Given the description of an element on the screen output the (x, y) to click on. 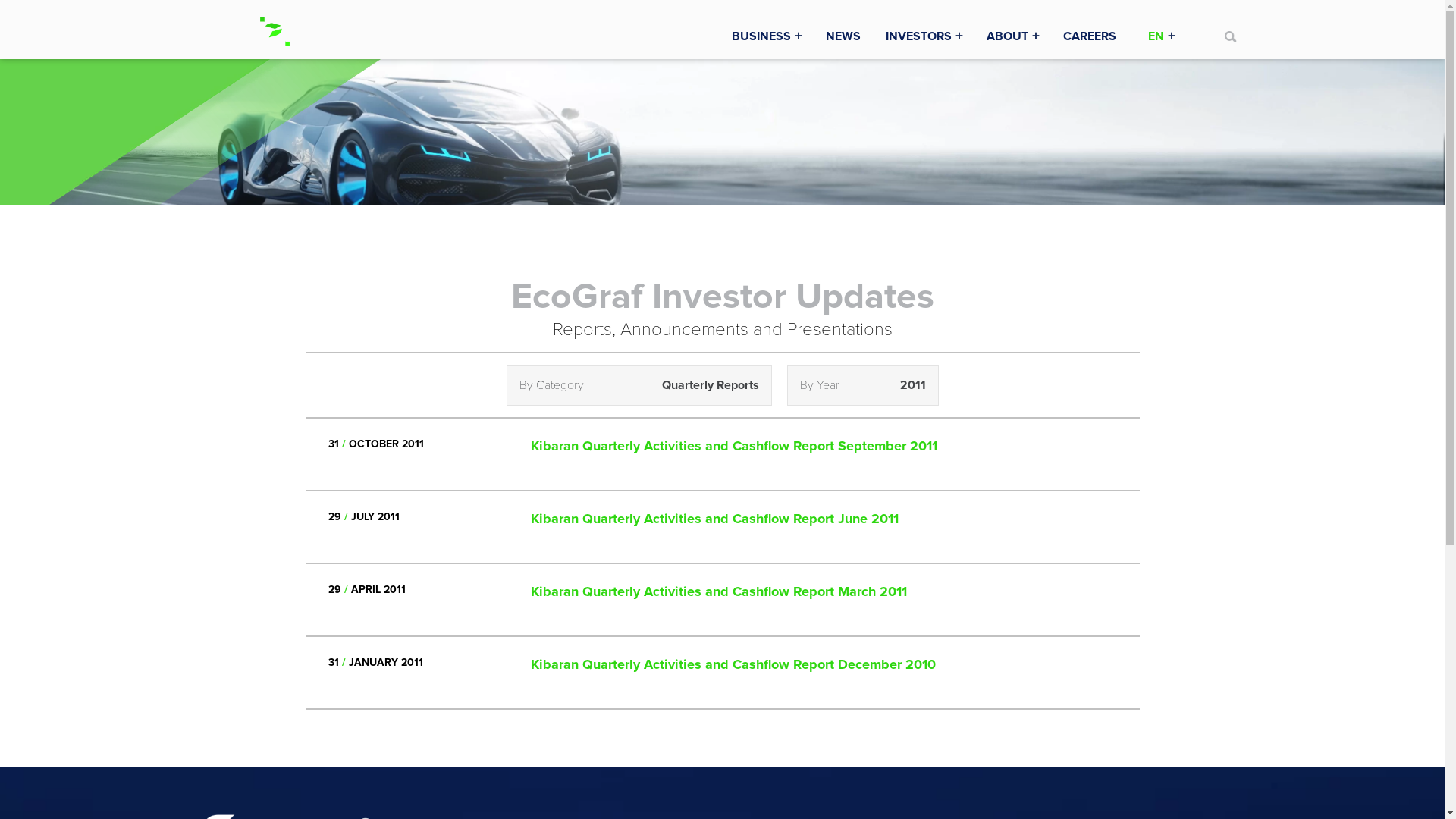
CAREERS Element type: text (1089, 35)
BUSINESS Element type: text (769, 35)
By Category
Quarterly Reports Element type: text (638, 384)
ABOUT Element type: text (1014, 35)
NEWS Element type: text (842, 35)
Kibaran Quarterly Activities and Cashflow Report June 2011 Element type: text (714, 518)
INVESTORS Element type: text (927, 35)
Kibaran Quarterly Activities and Cashflow Report March 2011 Element type: text (718, 591)
EN Element type: text (1164, 35)
By Year
2011 Element type: text (862, 384)
